Given the description of an element on the screen output the (x, y) to click on. 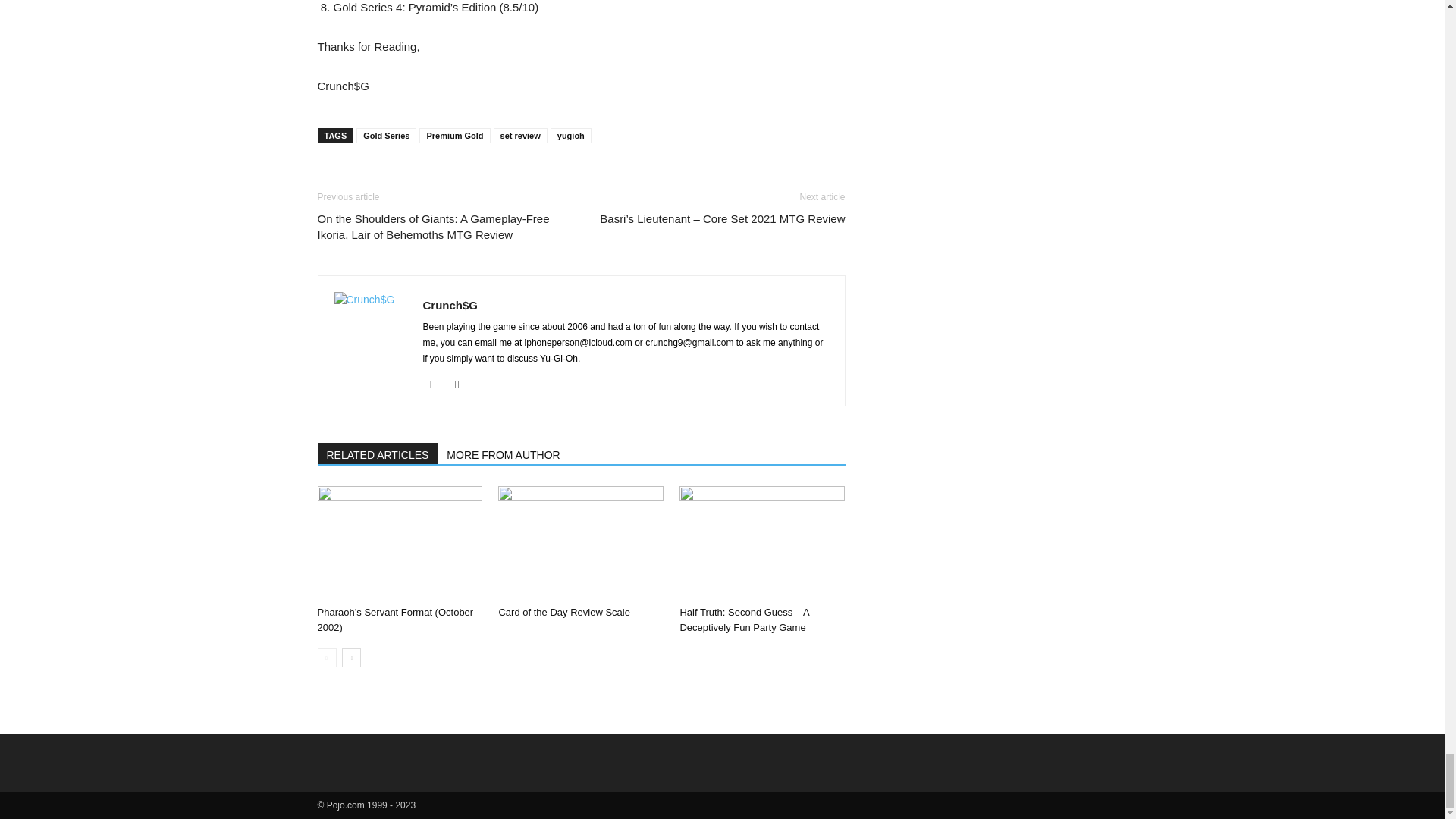
bottomFacebookLike (430, 176)
Card of the Day Review Scale (580, 542)
Twitter (462, 384)
Instagram (435, 384)
Card of the Day Review Scale (562, 612)
